Given the description of an element on the screen output the (x, y) to click on. 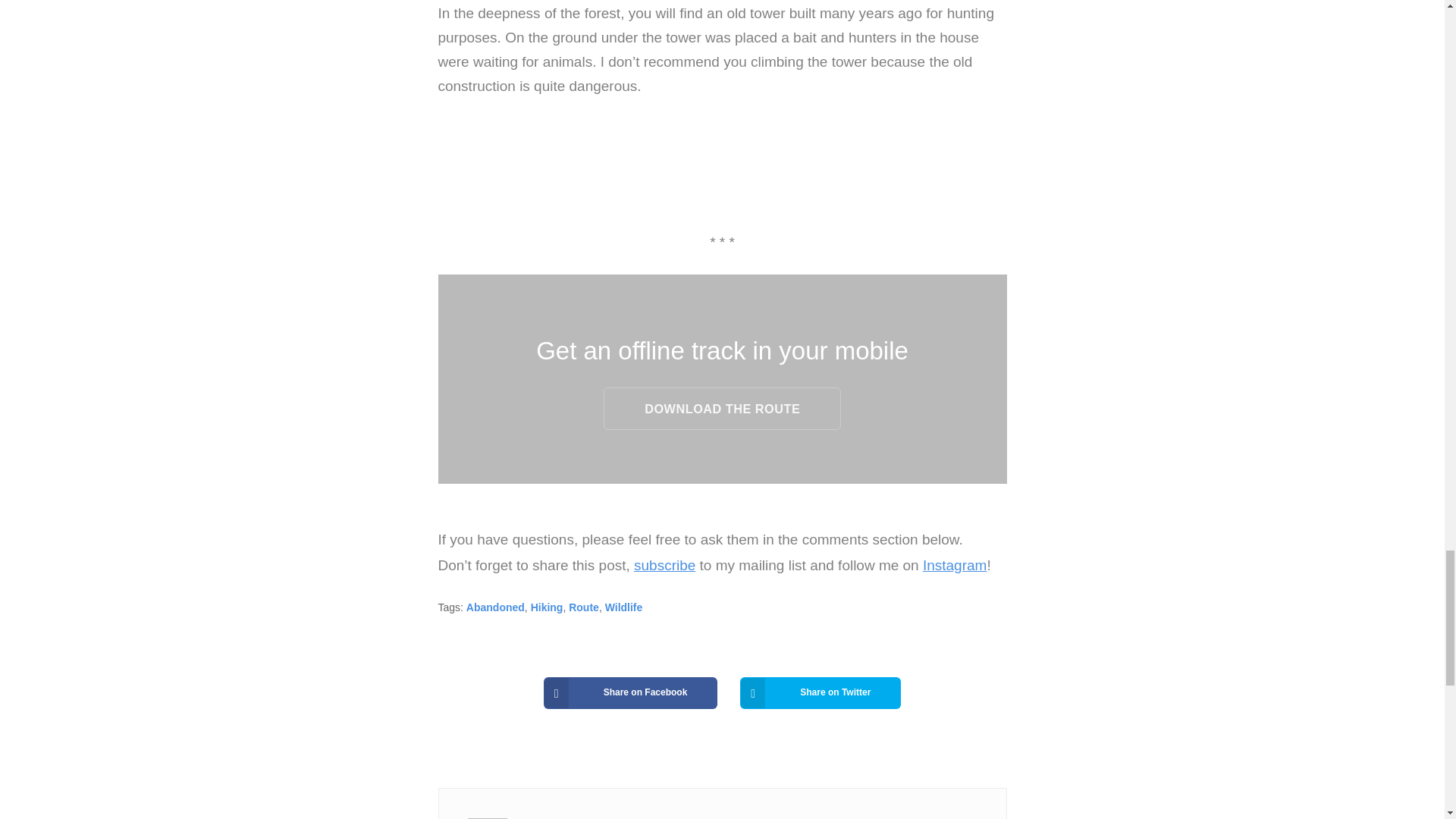
Share on Twitter (820, 693)
subscribe (664, 565)
DOWNLOAD THE ROUTE (722, 408)
Hiking (547, 607)
Wildlife (624, 607)
Share on Facebook (630, 693)
Instagram (955, 565)
Abandoned (494, 607)
Route (583, 607)
